Given the description of an element on the screen output the (x, y) to click on. 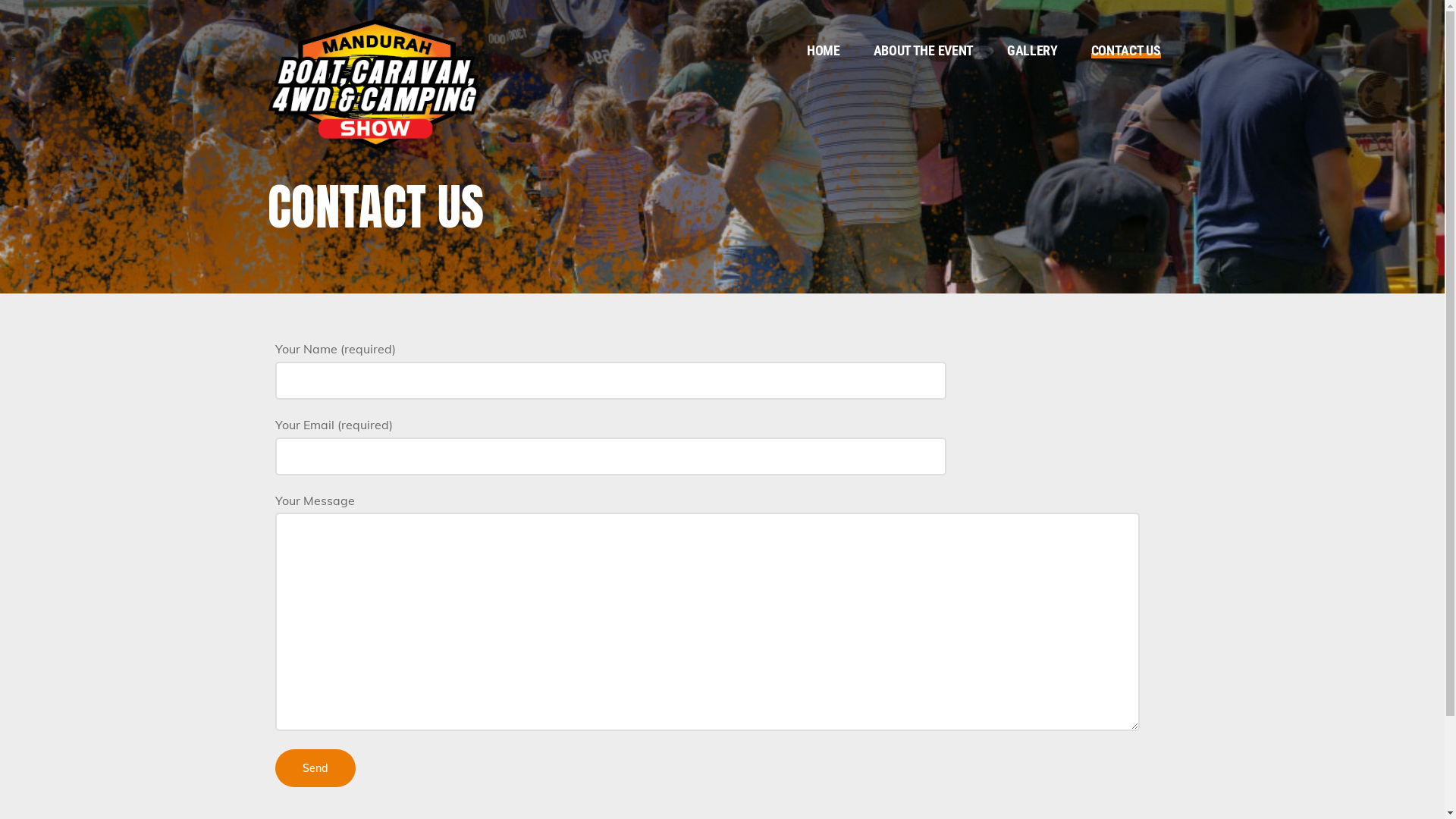
GALLERY Element type: text (1032, 50)
Mandurah Boat, Caravan, 4WD & Camping Show Element type: hover (372, 81)
CONTACT US Element type: text (1125, 50)
Send Element type: text (314, 768)
HOME Element type: text (823, 50)
ABOUT THE EVENT Element type: text (923, 50)
